Given the description of an element on the screen output the (x, y) to click on. 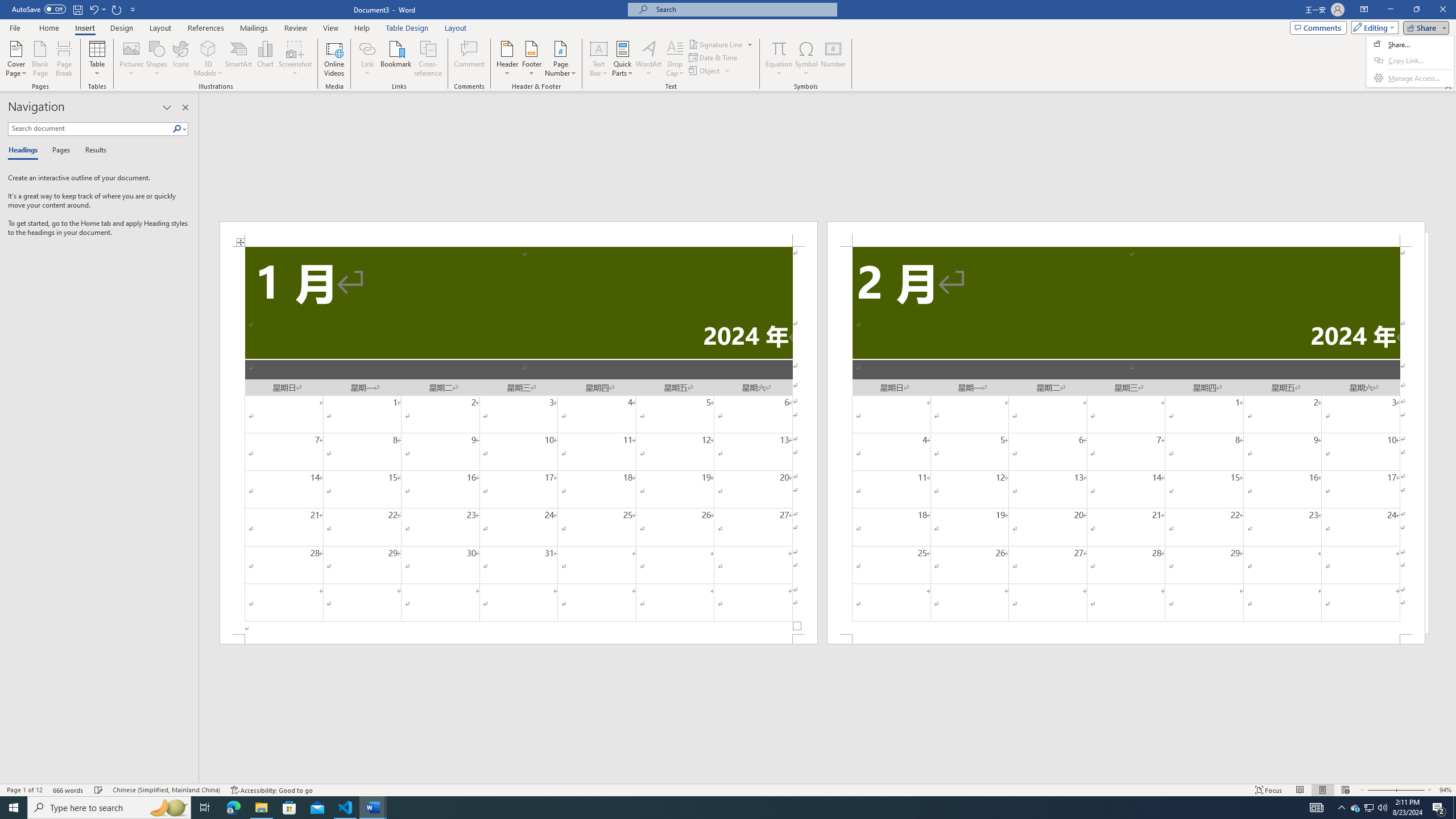
Icons (180, 58)
Drop Cap (674, 58)
Header (507, 58)
WordArt (648, 58)
Symbol (806, 58)
Cover Page (16, 58)
Online Videos... (333, 58)
Blank Page (40, 58)
